Given the description of an element on the screen output the (x, y) to click on. 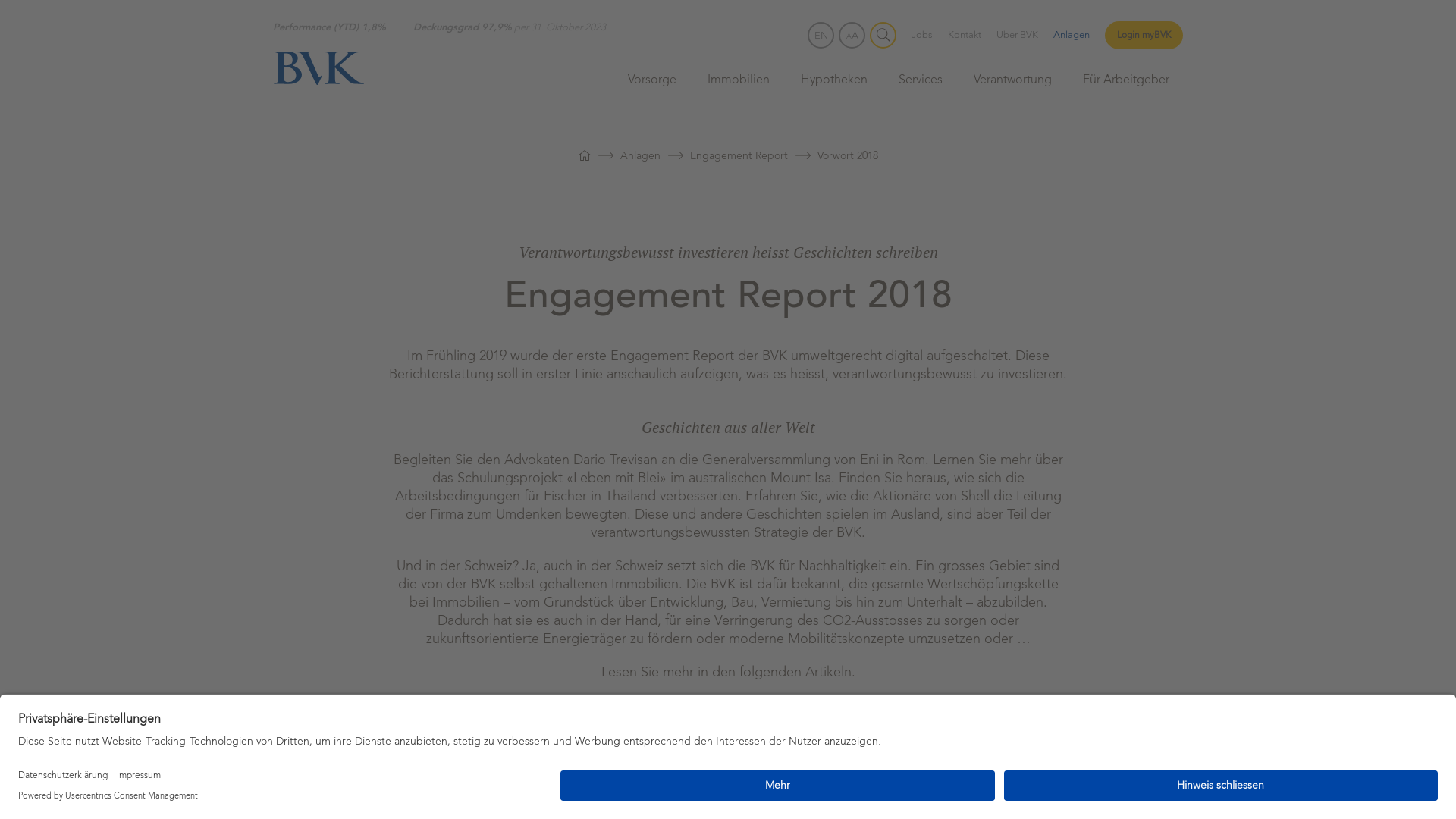
Verantwortung Element type: text (1012, 85)
Immobilien Element type: text (738, 85)
Hypotheken Element type: text (834, 85)
Anlagen Element type: text (640, 155)
Jobs Element type: text (921, 34)
EN Element type: text (820, 34)
Suche Element type: text (882, 34)
Vorsorge Element type: text (652, 85)
Kontakt Element type: text (964, 34)
Anlagen Element type: text (1071, 34)
Login myBVK Element type: text (1143, 35)
Engagement Report Element type: text (738, 155)
Weiter zum Editorial Element type: text (727, 752)
Services Element type: text (920, 85)
